Given the description of an element on the screen output the (x, y) to click on. 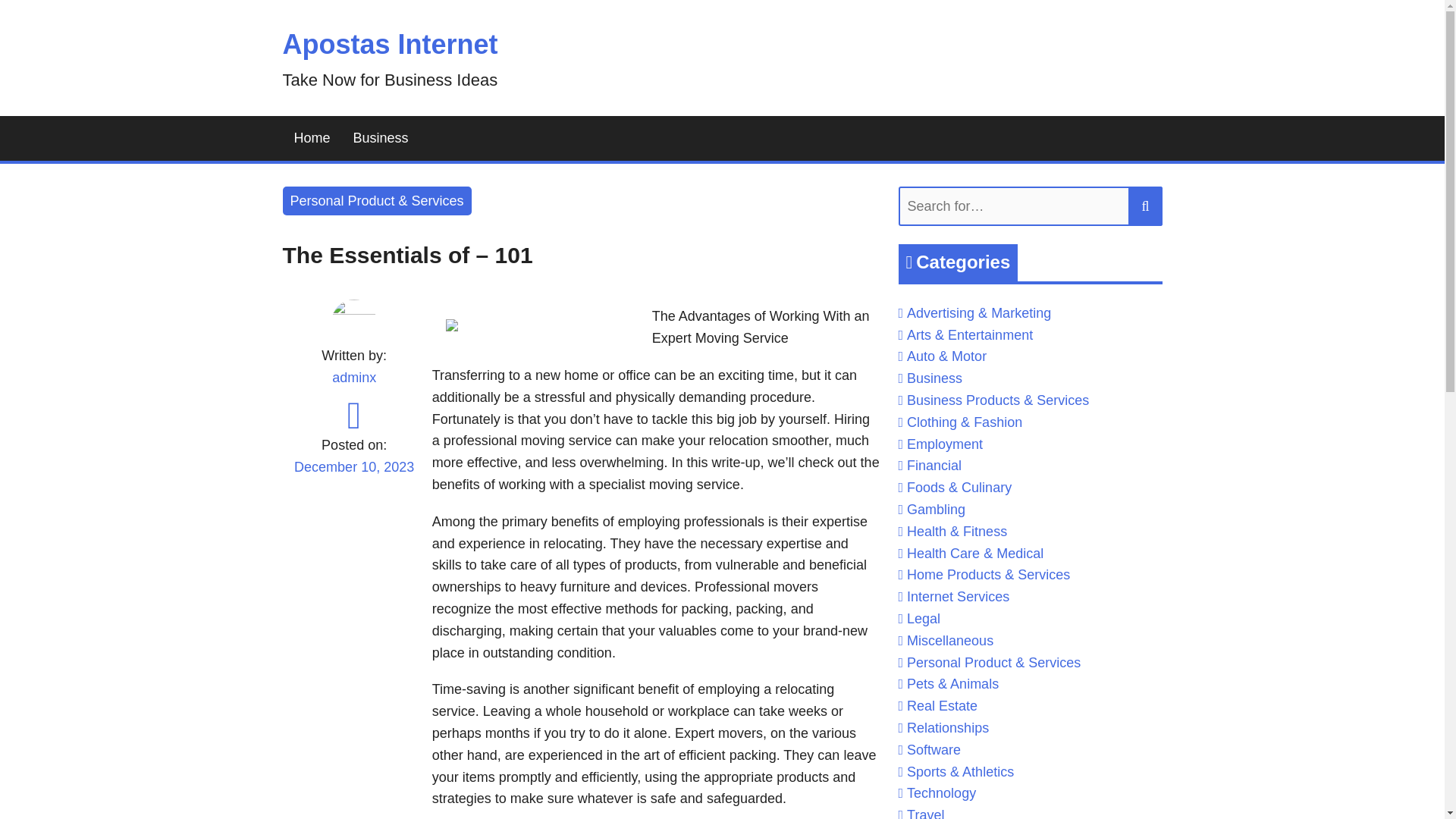
Internet Services (958, 596)
Real Estate (941, 705)
Travel (925, 813)
adminx (353, 377)
Relationships (947, 727)
Employment (944, 444)
Apostas Internet (389, 43)
Gambling (936, 509)
Business (381, 138)
Business (934, 378)
December 10, 2023 (353, 476)
Search for: (1029, 206)
Miscellaneous (949, 640)
Financial (933, 465)
Technology (941, 792)
